Given the description of an element on the screen output the (x, y) to click on. 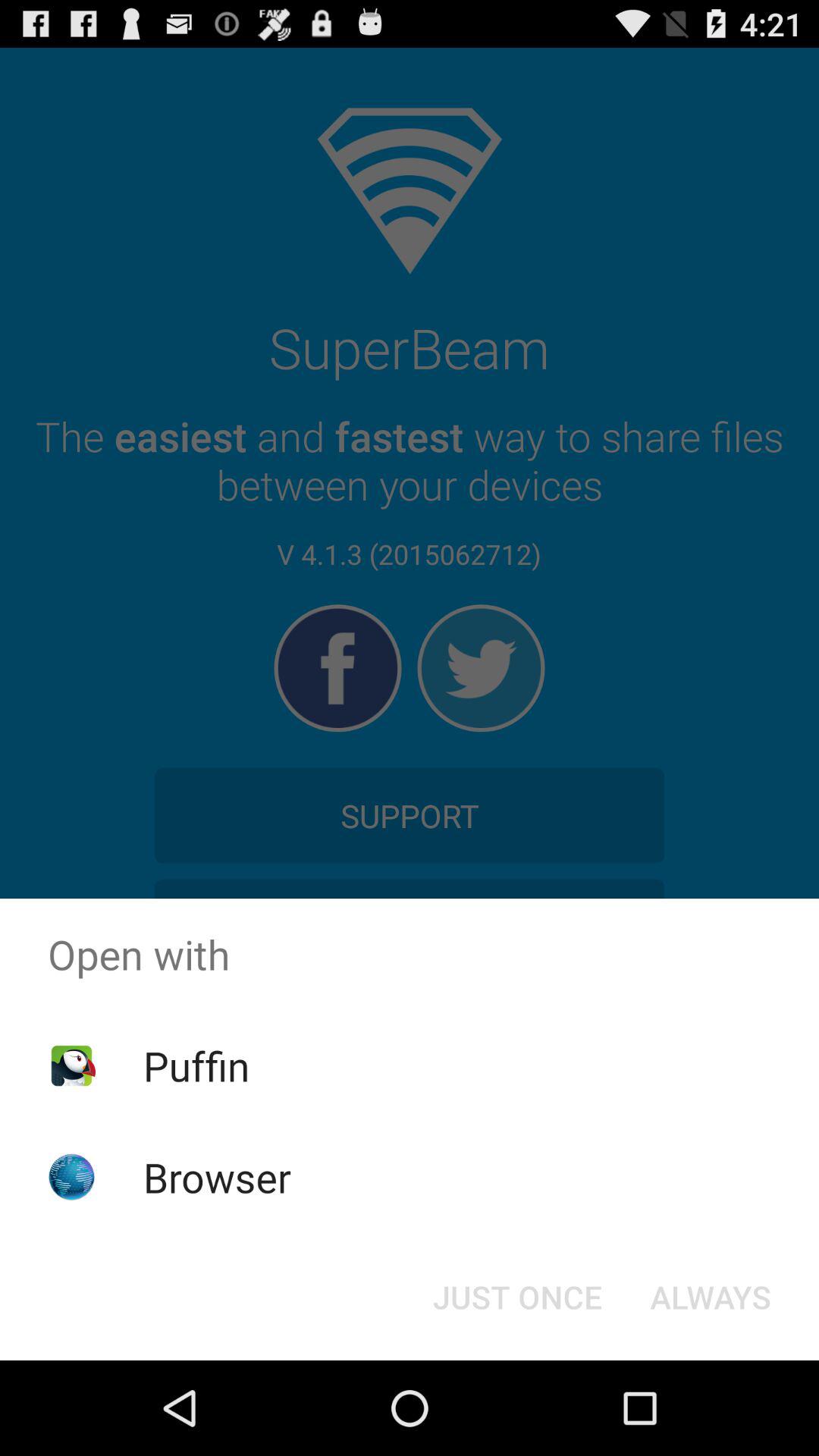
open icon at the bottom right corner (710, 1296)
